Given the description of an element on the screen output the (x, y) to click on. 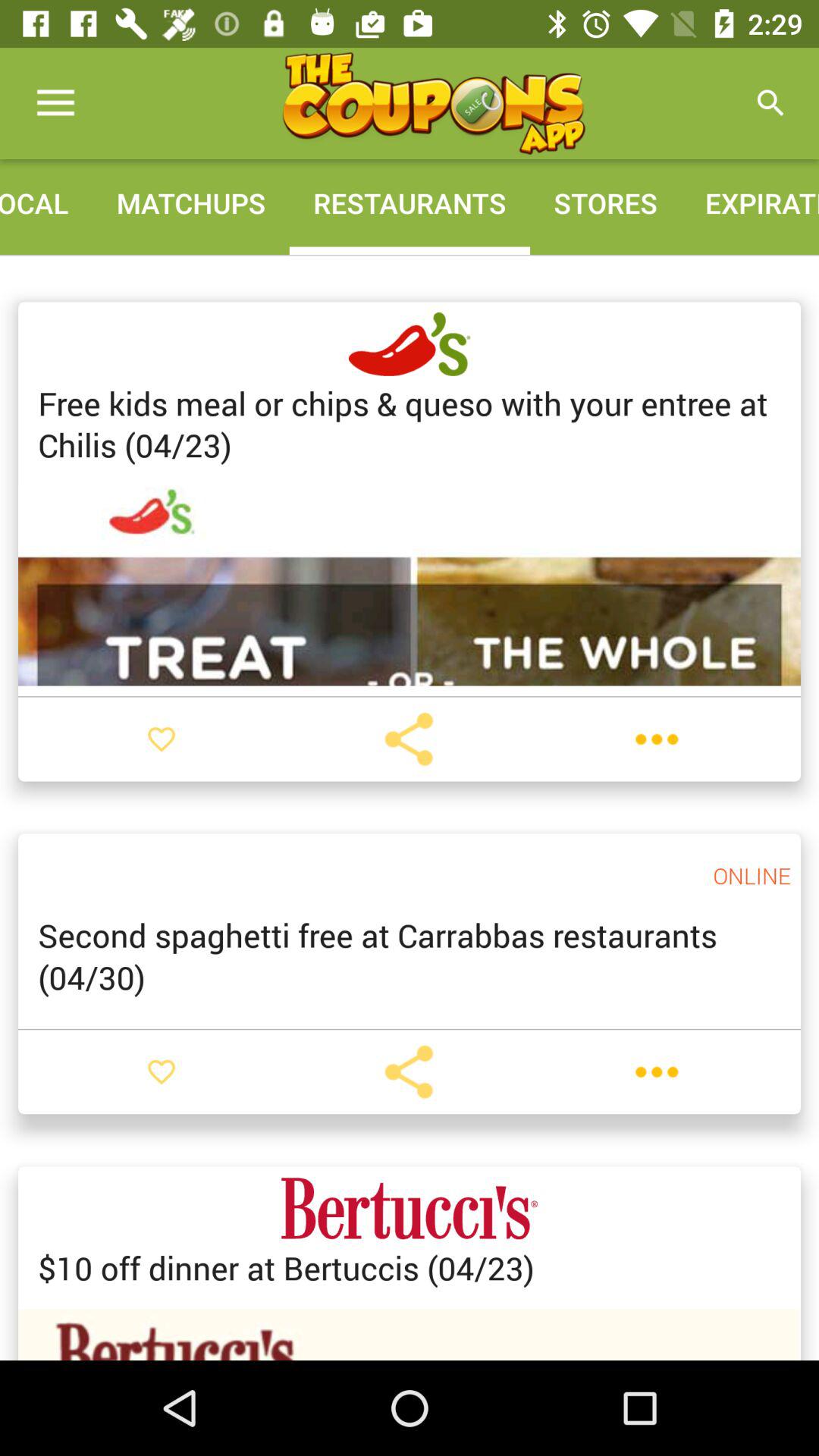
like post (161, 1071)
